Given the description of an element on the screen output the (x, y) to click on. 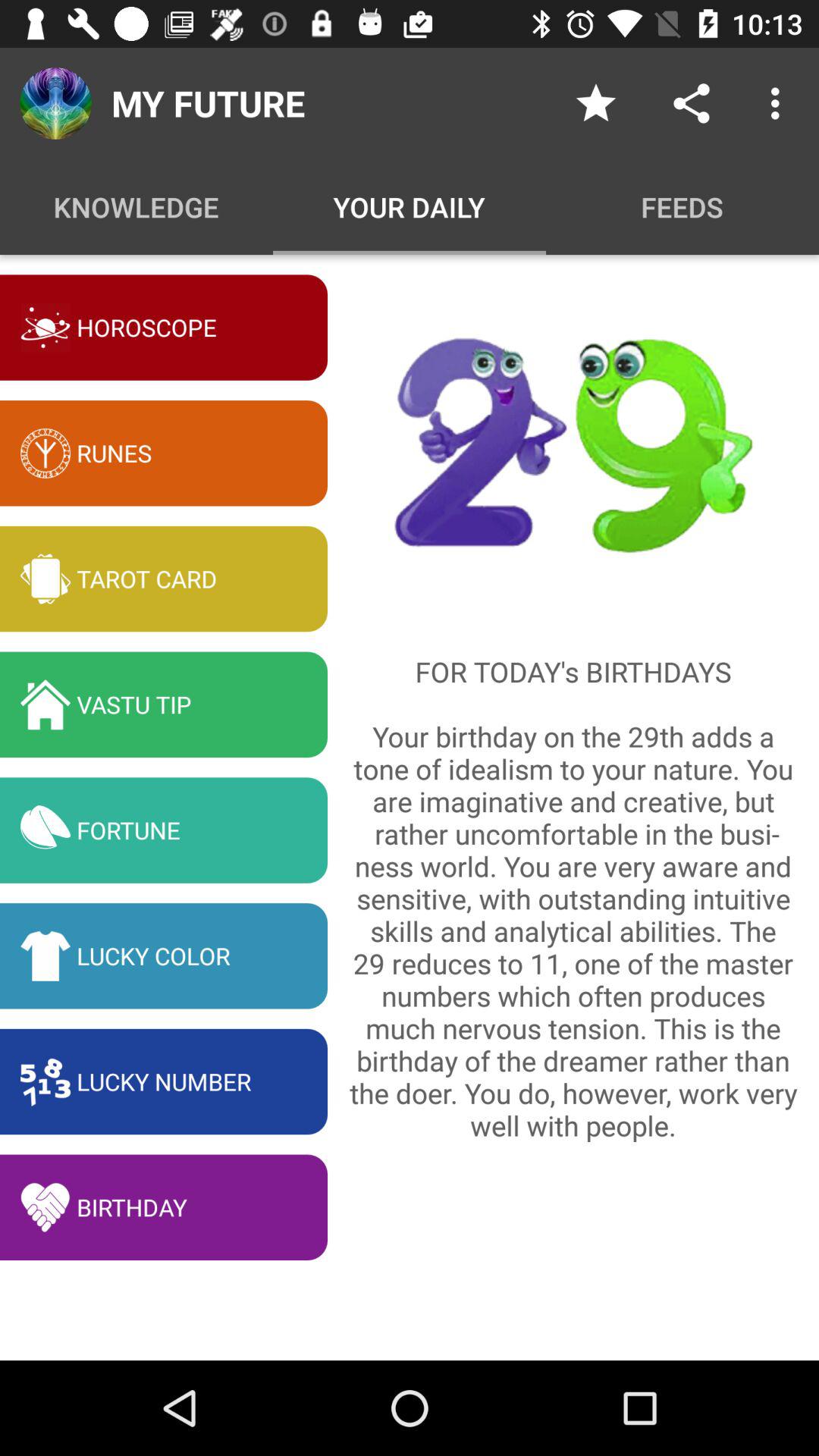
share this information (691, 103)
